Given the description of an element on the screen output the (x, y) to click on. 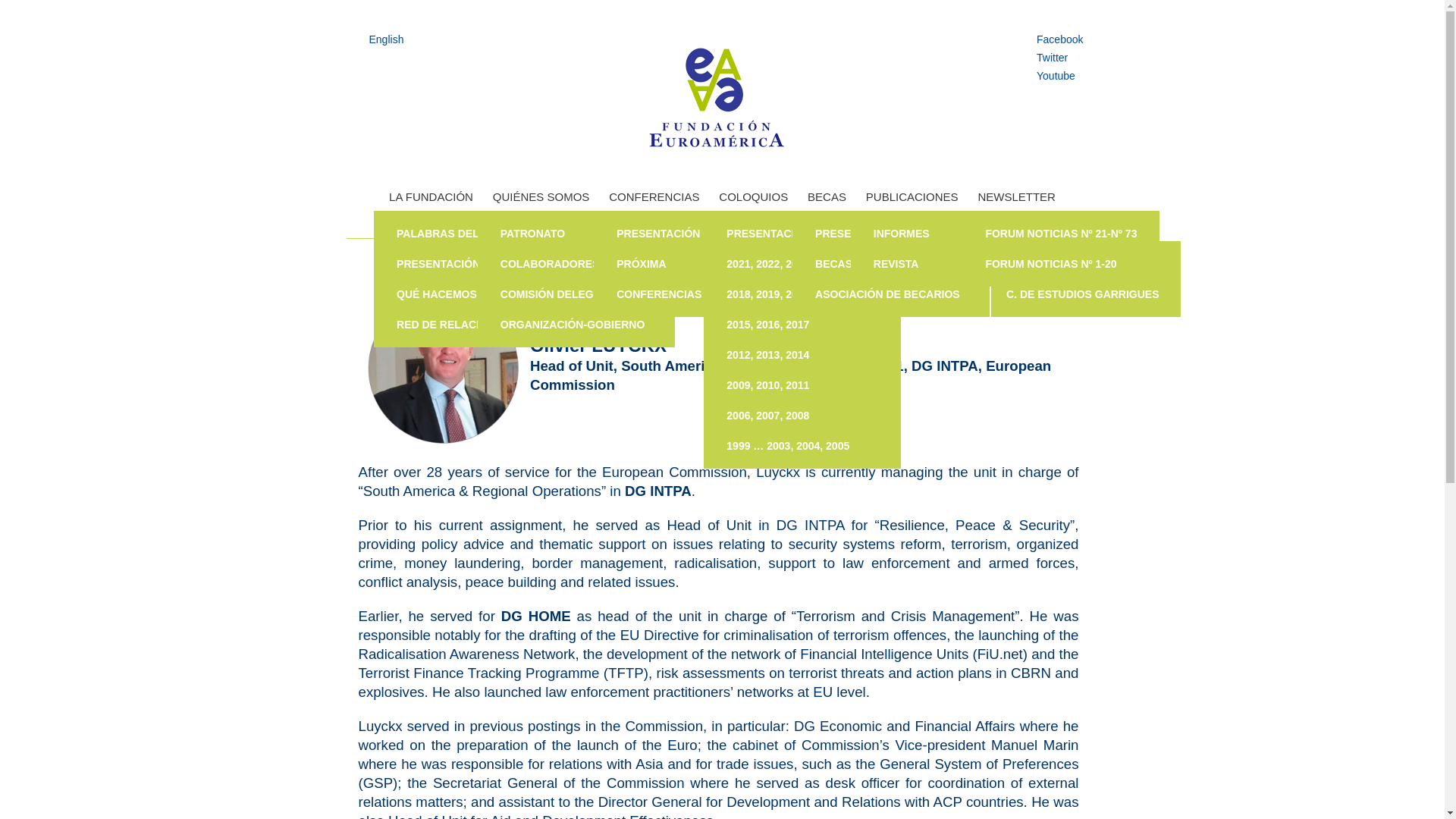
COLABORADORES (579, 263)
PERSONALIDADES (775, 233)
2021, 2022, 2023, 2024 (806, 263)
2015, 2016, 2017 (806, 324)
CONFERENCIAS PASADAS (695, 294)
2012, 2013, 2014 (806, 354)
ENTIDADES (775, 294)
2018, 2019, 2020 (806, 294)
English (382, 39)
Twitter (1056, 57)
